Given the description of an element on the screen output the (x, y) to click on. 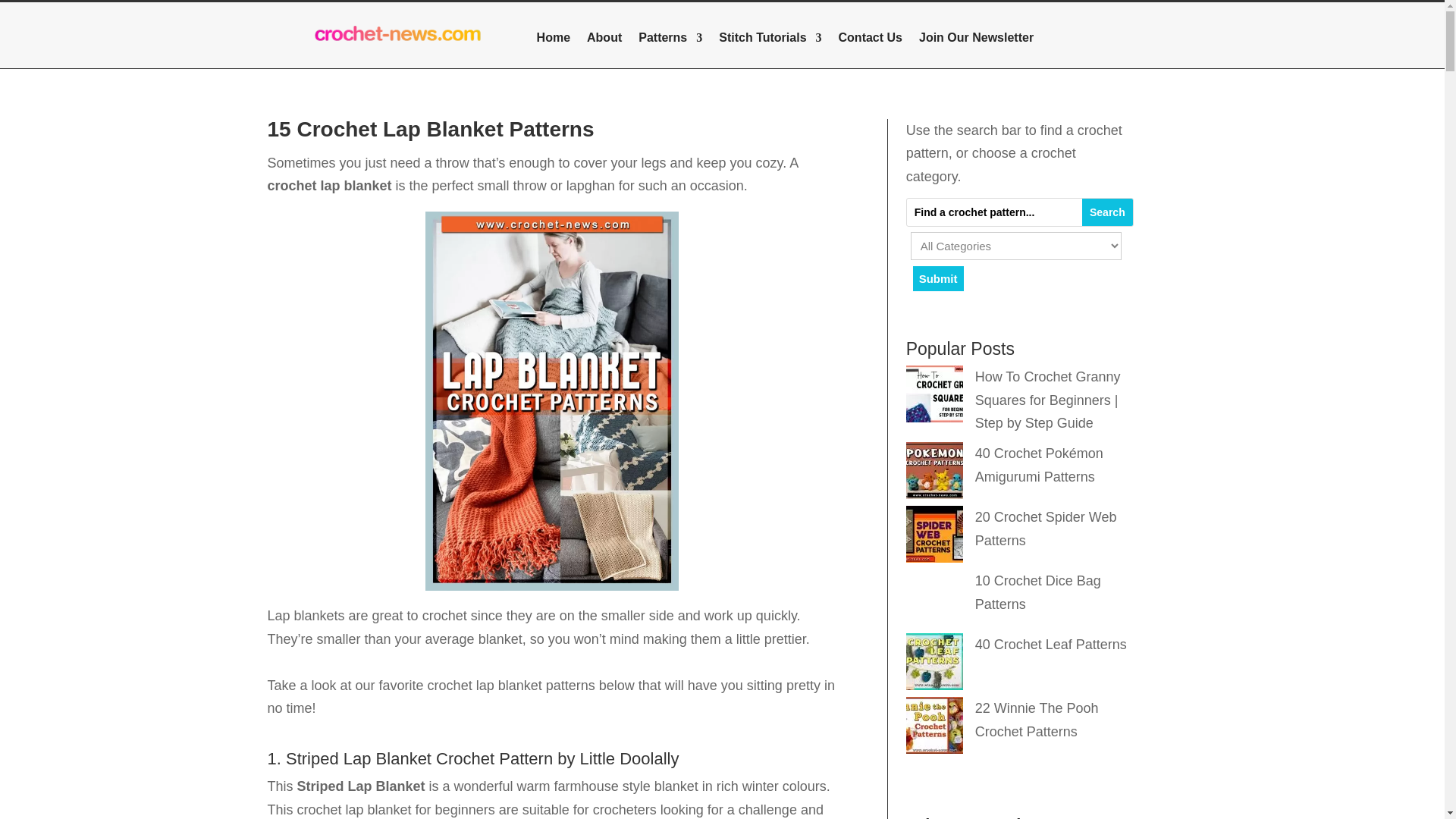
crochet-news (398, 35)
Home (553, 40)
Submit (938, 278)
Join Our Newsletter (975, 40)
Stitch Tutorials (770, 40)
Search (1106, 212)
Search (1106, 212)
Patterns (670, 40)
About (603, 40)
Contact Us (870, 40)
